Given the description of an element on the screen output the (x, y) to click on. 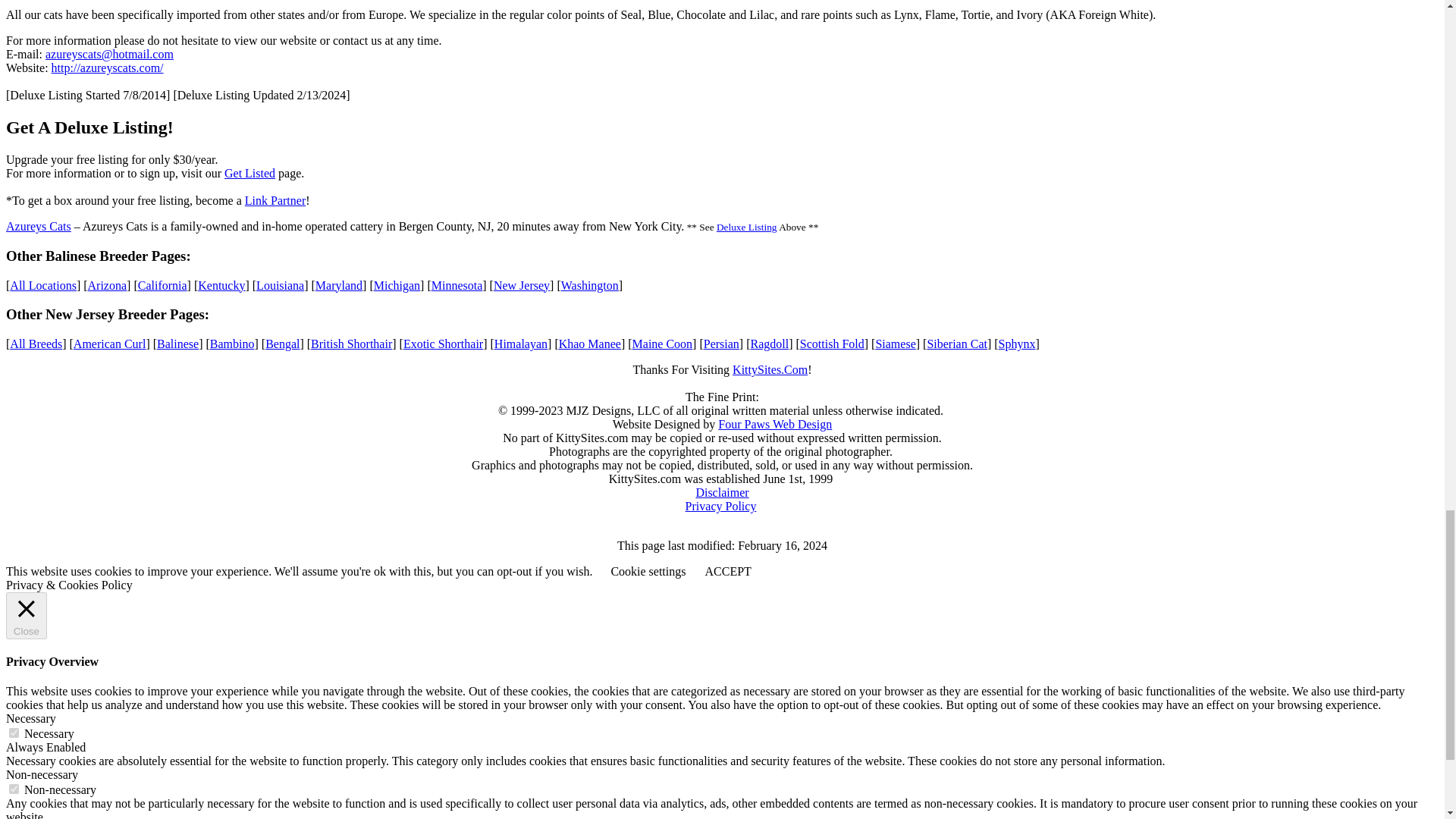
on (13, 732)
on (13, 788)
